Given the description of an element on the screen output the (x, y) to click on. 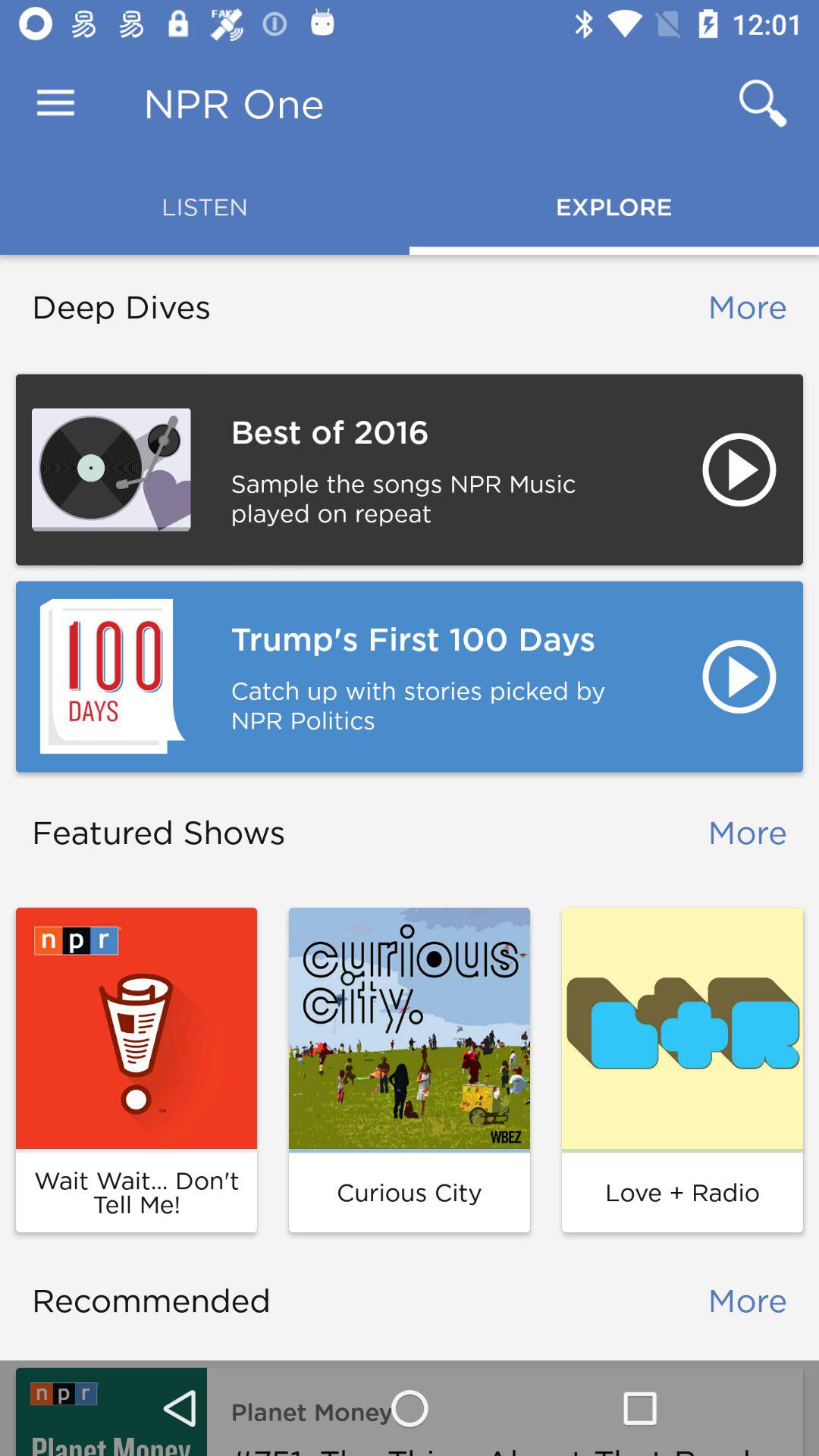
select item above deep dives icon (55, 103)
